Given the description of an element on the screen output the (x, y) to click on. 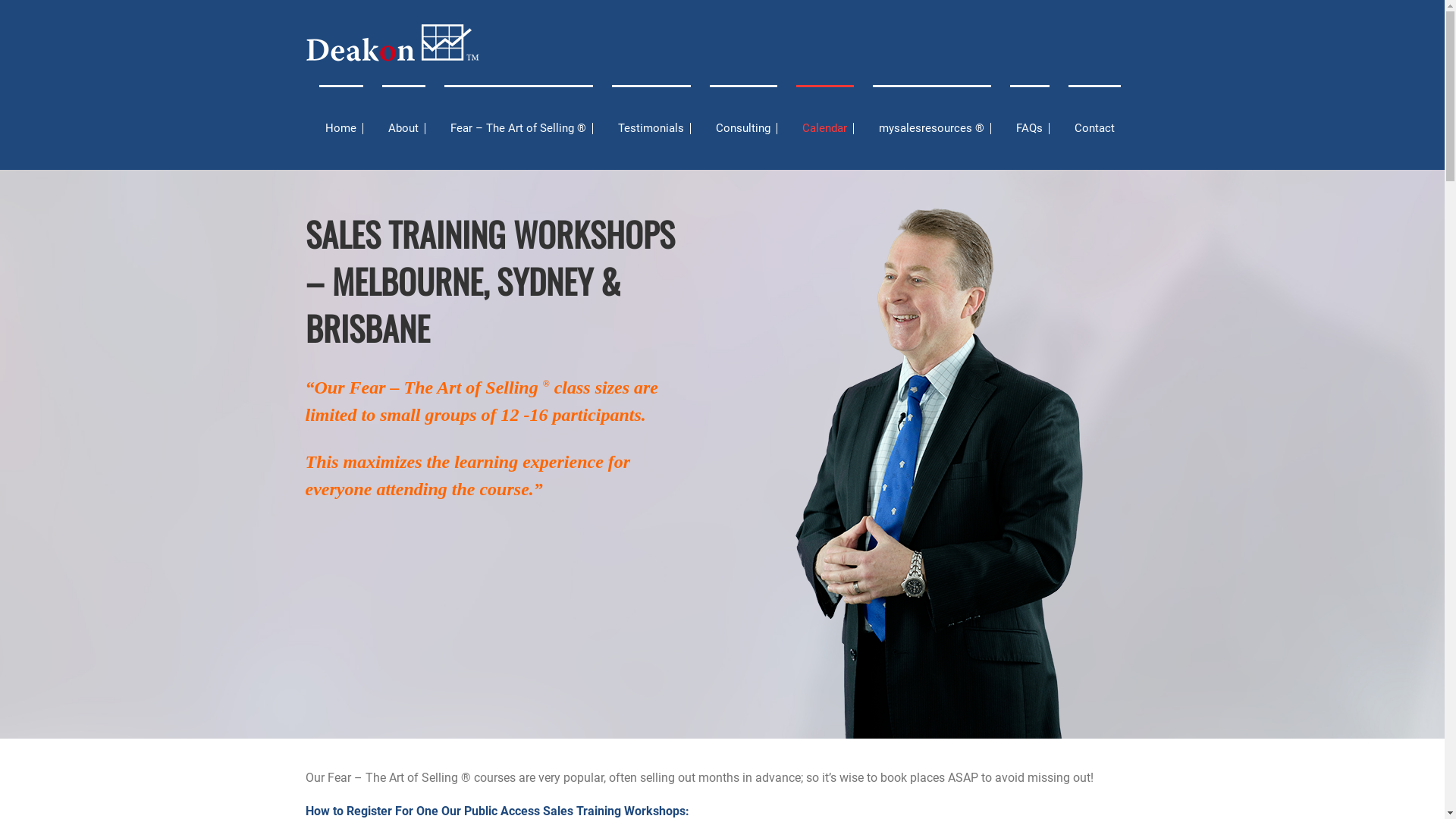
Contact Element type: text (1093, 126)
tim_testimonials Element type: hover (938, 472)
Consulting Element type: text (743, 126)
About Element type: text (403, 126)
FAQs Element type: text (1029, 126)
Calendar Element type: text (824, 126)
Home Element type: text (340, 126)
Testimonials Element type: text (650, 126)
